Given the description of an element on the screen output the (x, y) to click on. 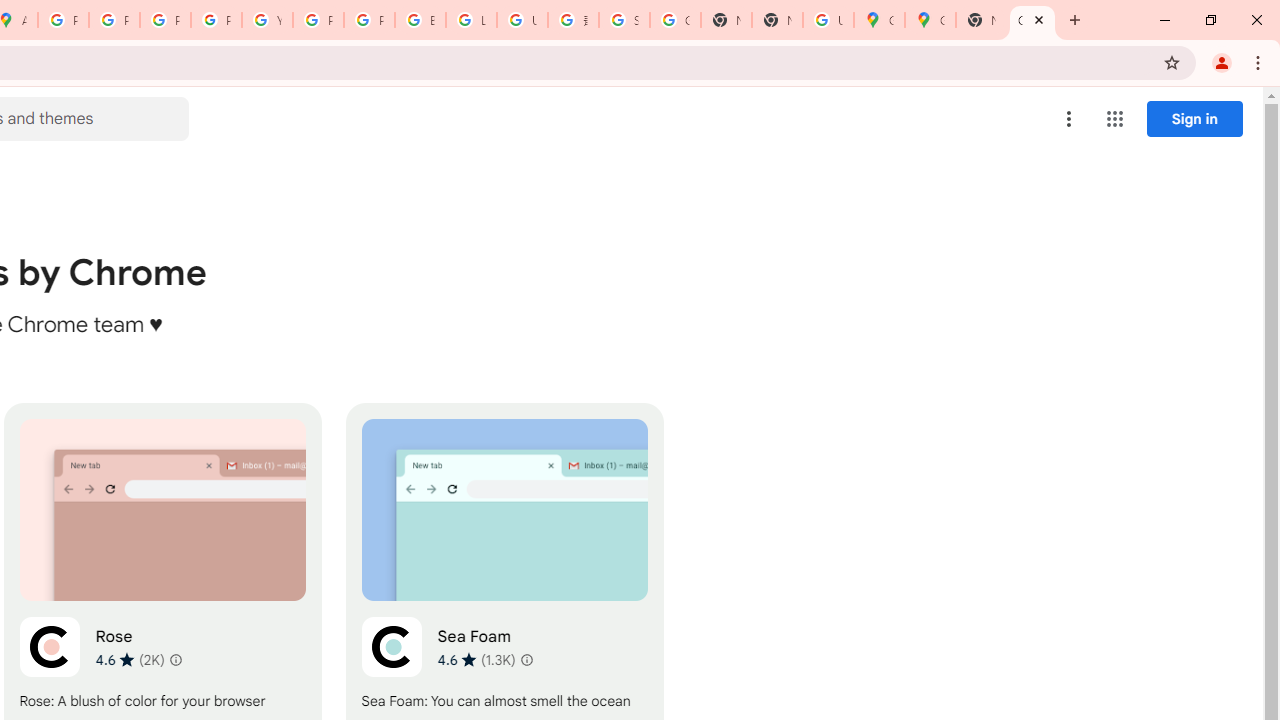
Privacy Help Center - Policies Help (164, 20)
